Given the description of an element on the screen output the (x, y) to click on. 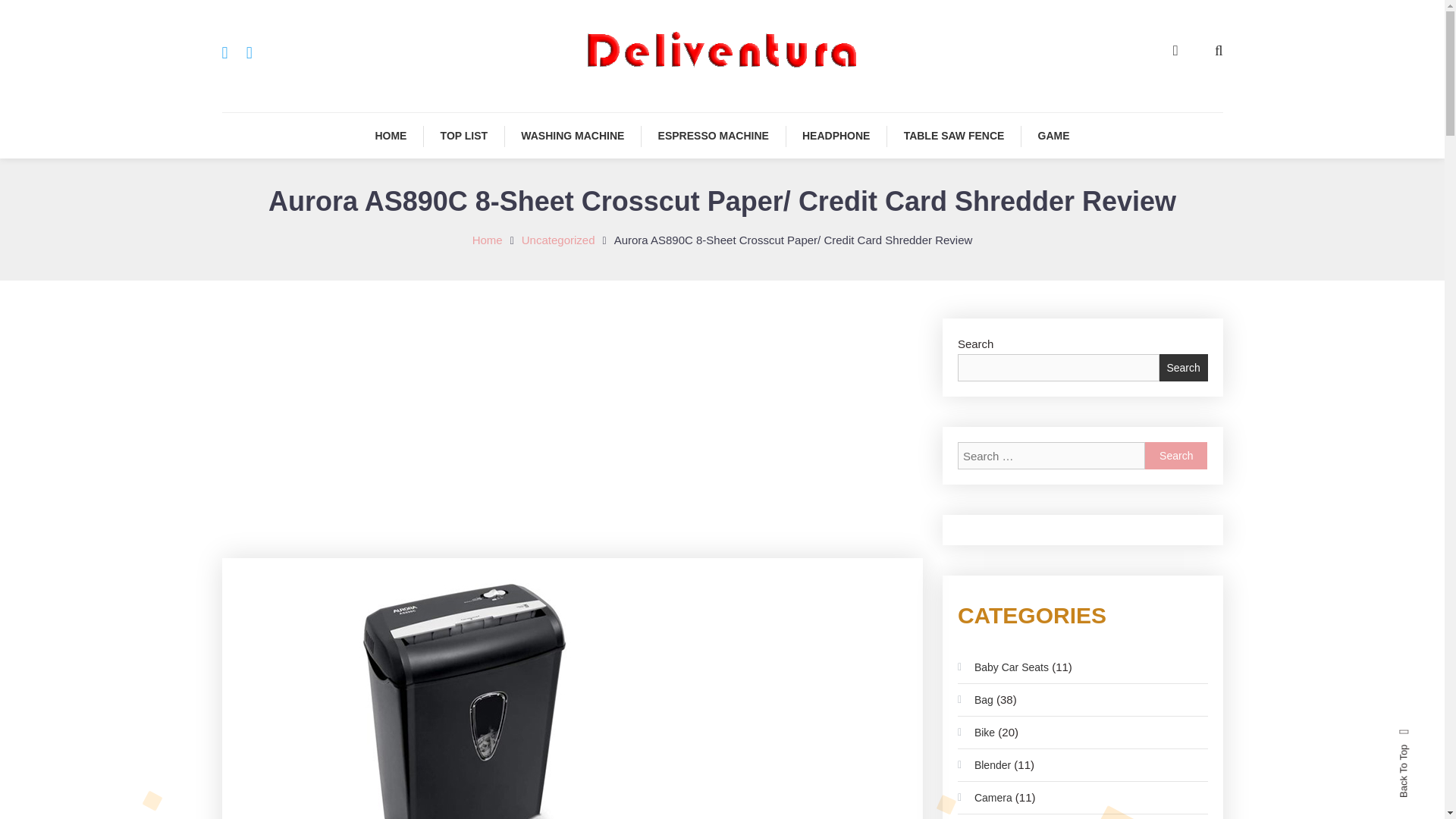
Uncategorized (558, 239)
Home (486, 239)
WASHING MACHINE (572, 135)
Search (1175, 455)
GAME (1053, 135)
ESPRESSO MACHINE (713, 135)
TABLE SAW FENCE (954, 135)
HOME (390, 135)
Search (768, 432)
Search (1175, 455)
